Given the description of an element on the screen output the (x, y) to click on. 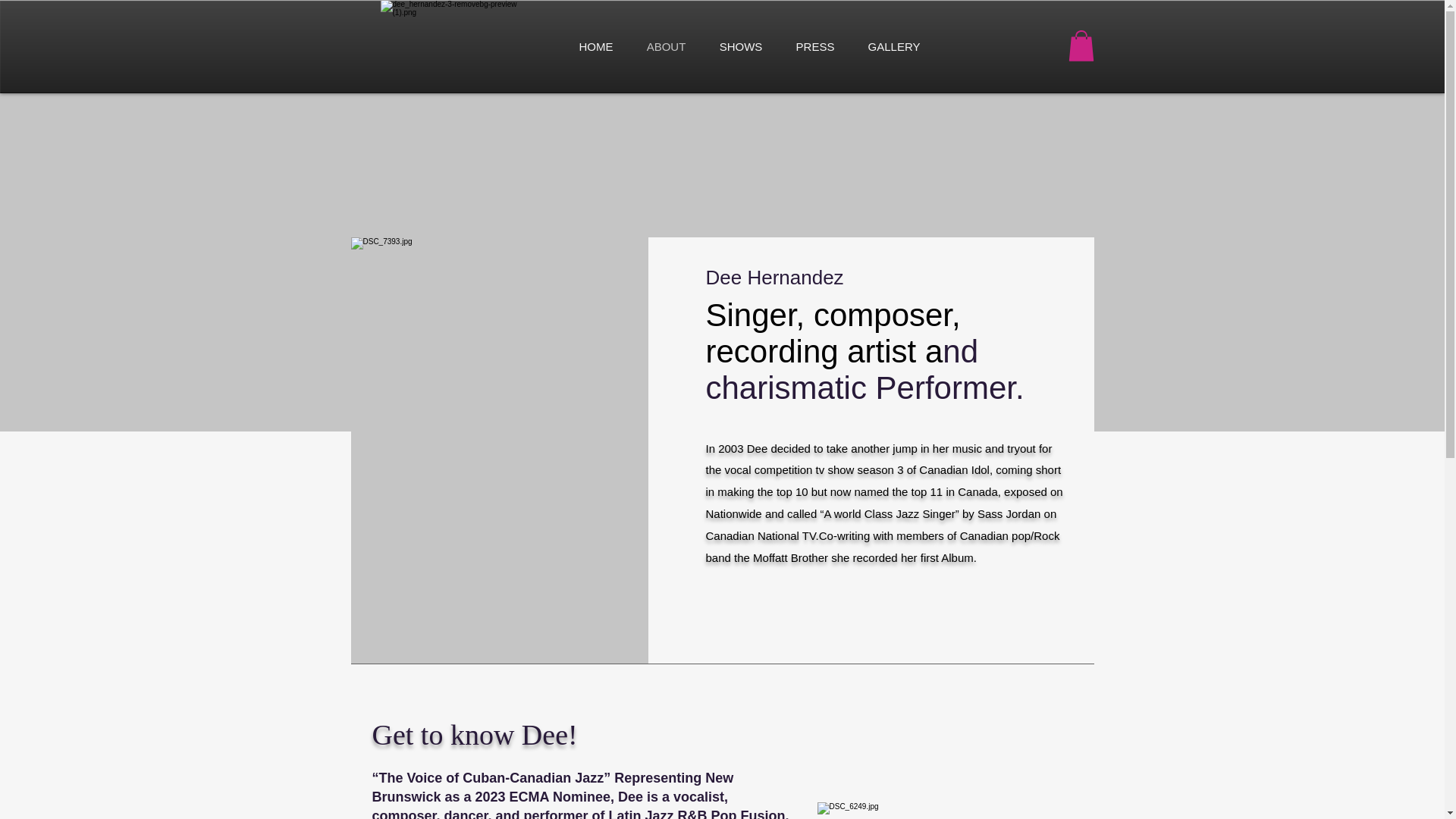
PRESS (814, 46)
ABOUT (664, 46)
GALLERY (893, 46)
SHOWS (739, 46)
HOME (596, 46)
